Given the description of an element on the screen output the (x, y) to click on. 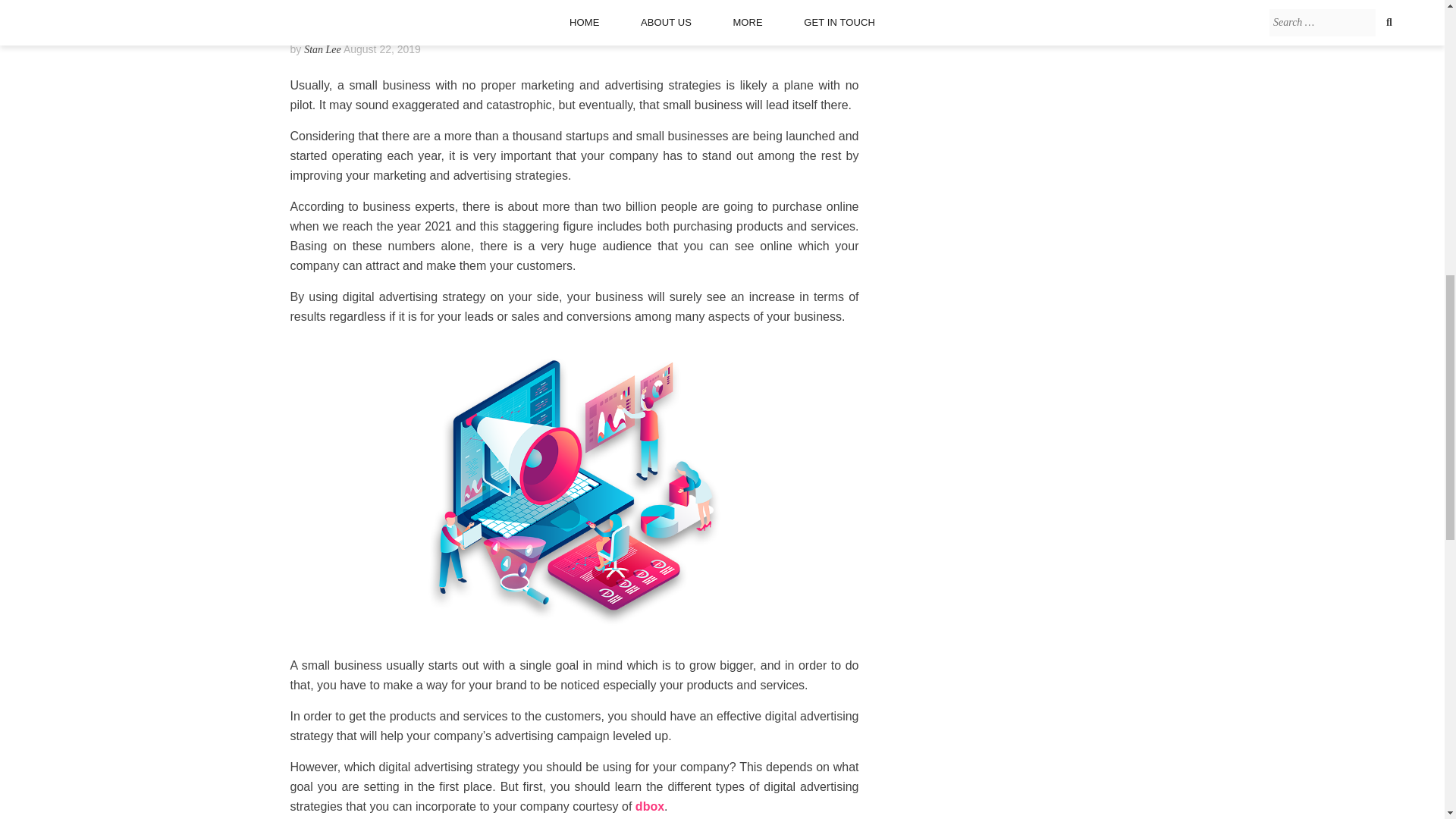
August 22, 2019 (381, 49)
dbox (648, 806)
Stan Lee (322, 49)
